Given the description of an element on the screen output the (x, y) to click on. 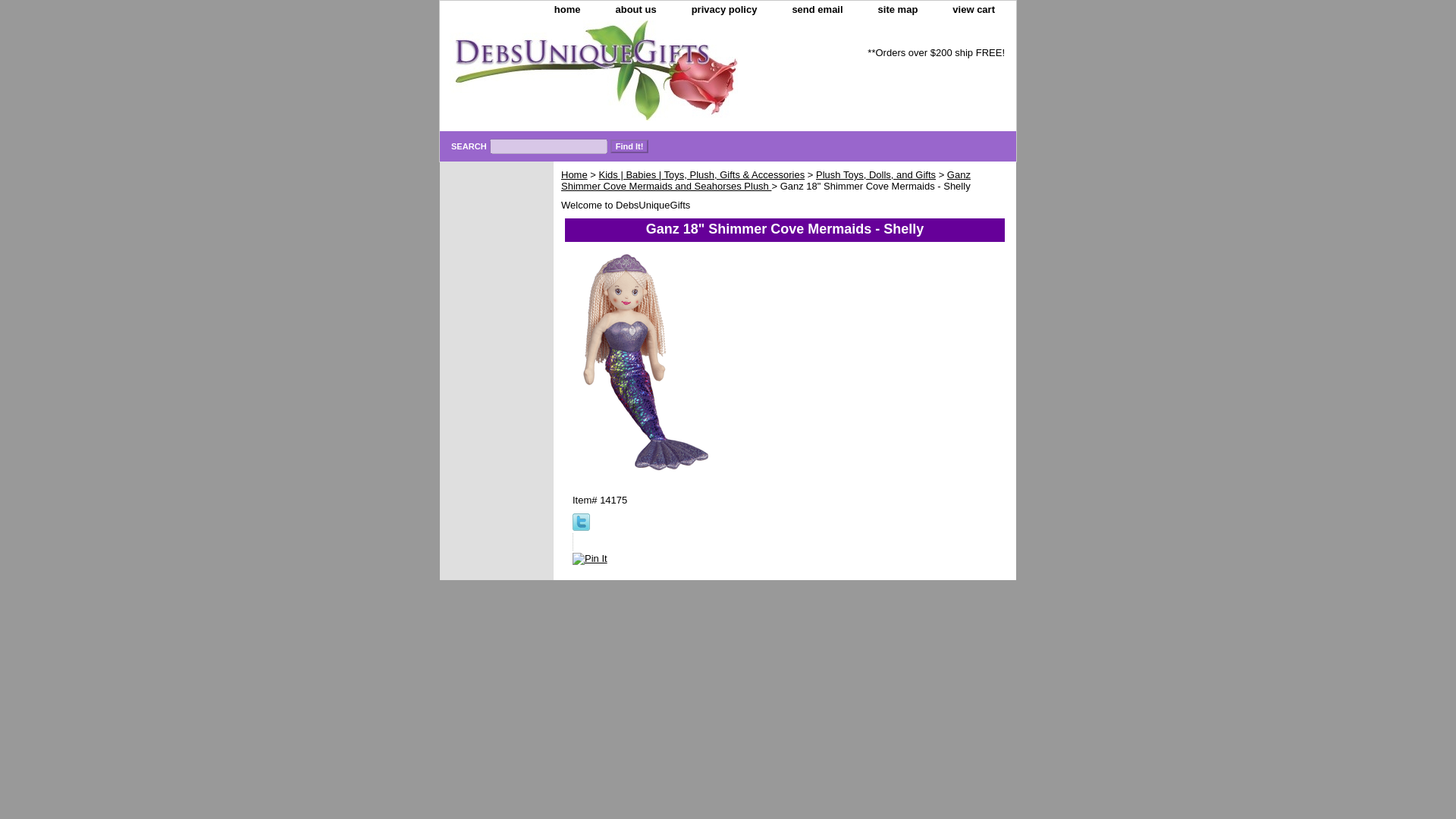
Tweet (580, 527)
about us (635, 9)
home (566, 9)
send email (816, 9)
view cart (973, 9)
Ganz Shimmer Cove Mermaids and Seahorses Plush (765, 179)
Pin It (589, 558)
Home (574, 174)
DebsUniqueGifts.com (628, 75)
Find It! (629, 146)
Find It! (629, 146)
privacy policy (725, 9)
Plush Toys, Dolls, and Gifts (875, 174)
site map (898, 9)
